Given the description of an element on the screen output the (x, y) to click on. 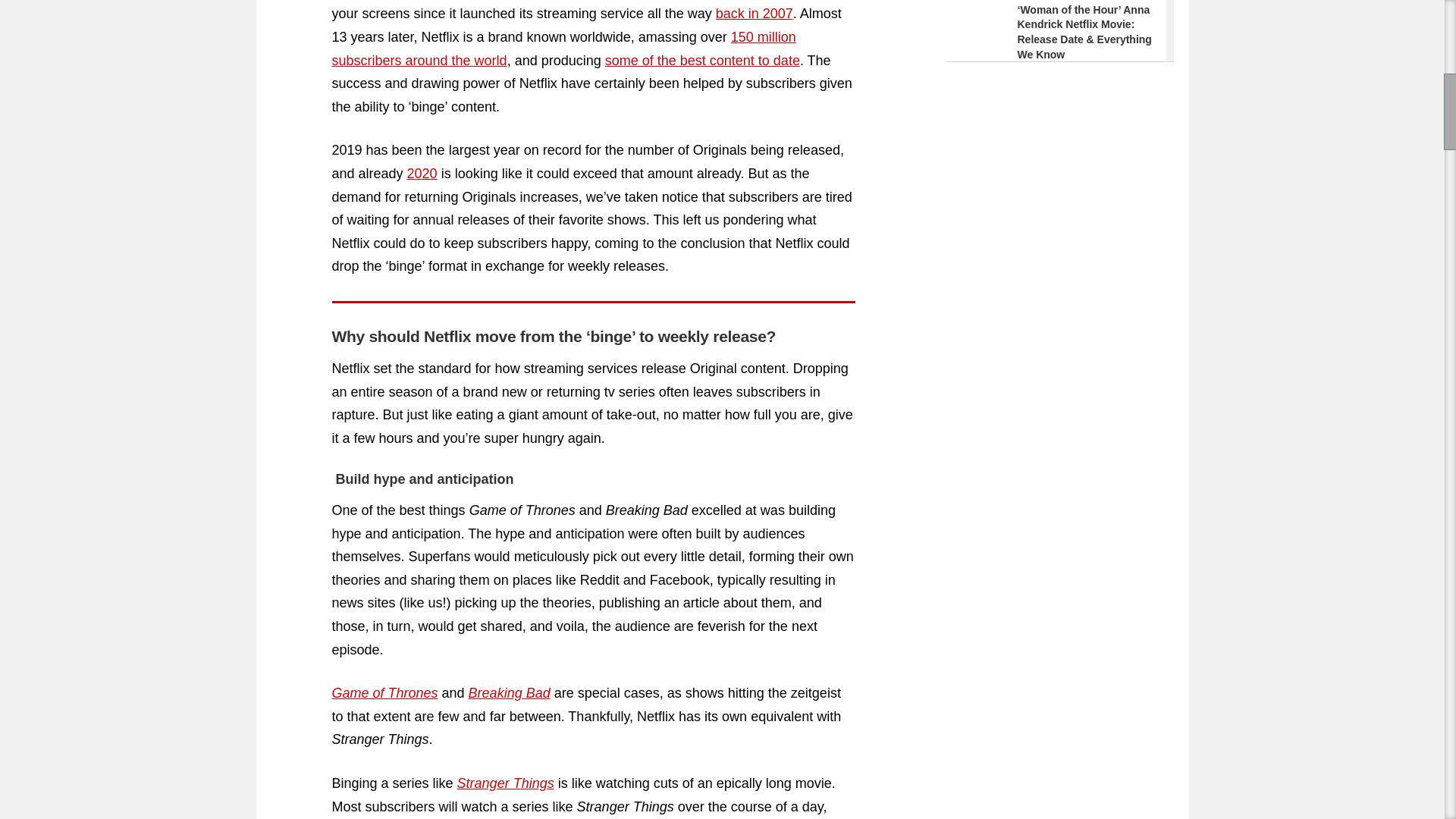
Stranger Things (505, 783)
some of the best content to date (702, 60)
Game of Thrones (384, 693)
150 million subscribers around the world (563, 48)
back in 2007 (754, 13)
2020 (422, 173)
Breaking Bad (509, 693)
